Given the description of an element on the screen output the (x, y) to click on. 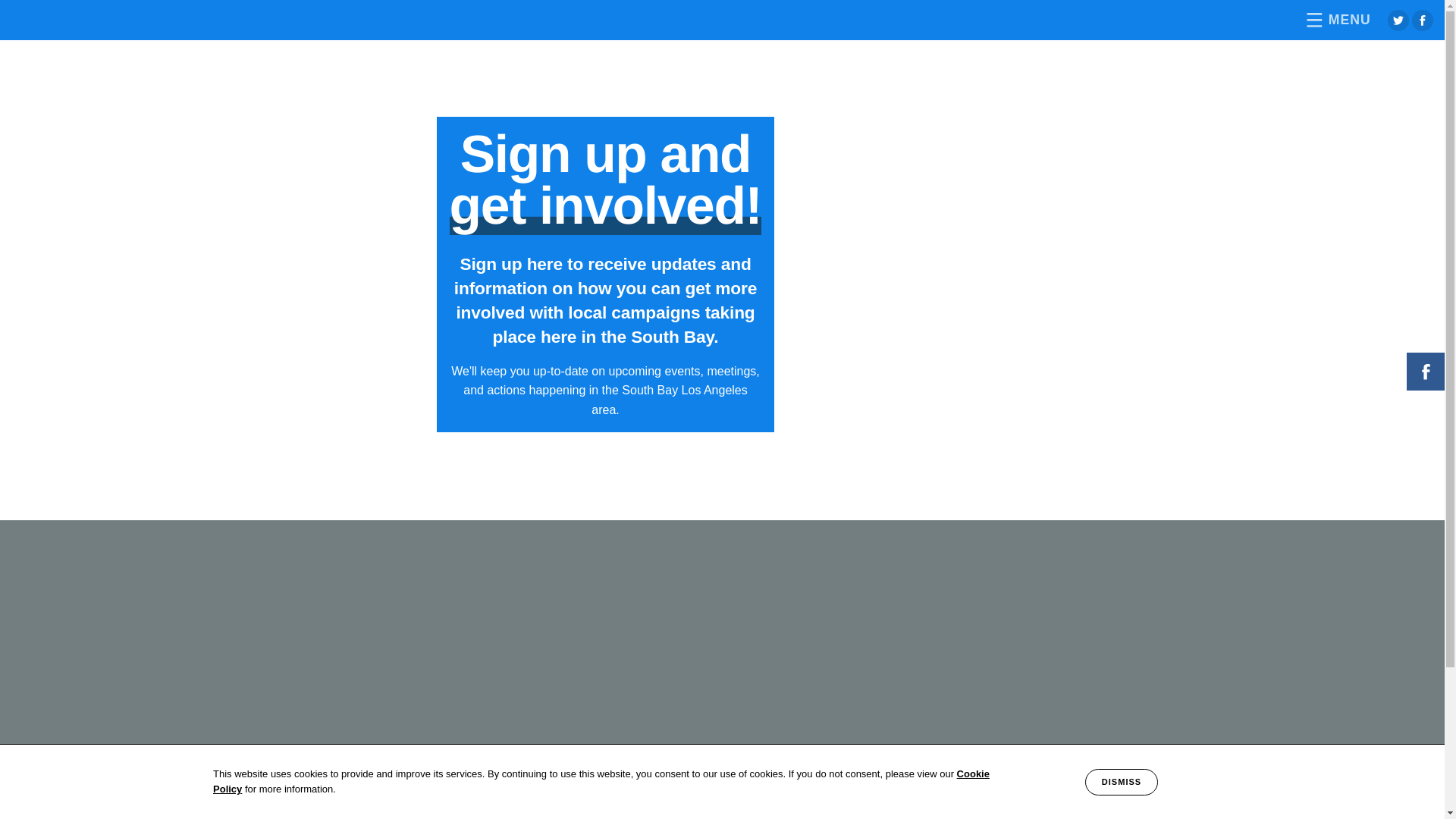
MENU Element type: text (1334, 20)
Facebook Element type: text (1422, 20)
Cookie Policy Element type: text (601, 781)
FACEBOOK Element type: text (1425, 371)
DISMISS Element type: text (1121, 781)
Twitter Element type: text (1397, 20)
